Given the description of an element on the screen output the (x, y) to click on. 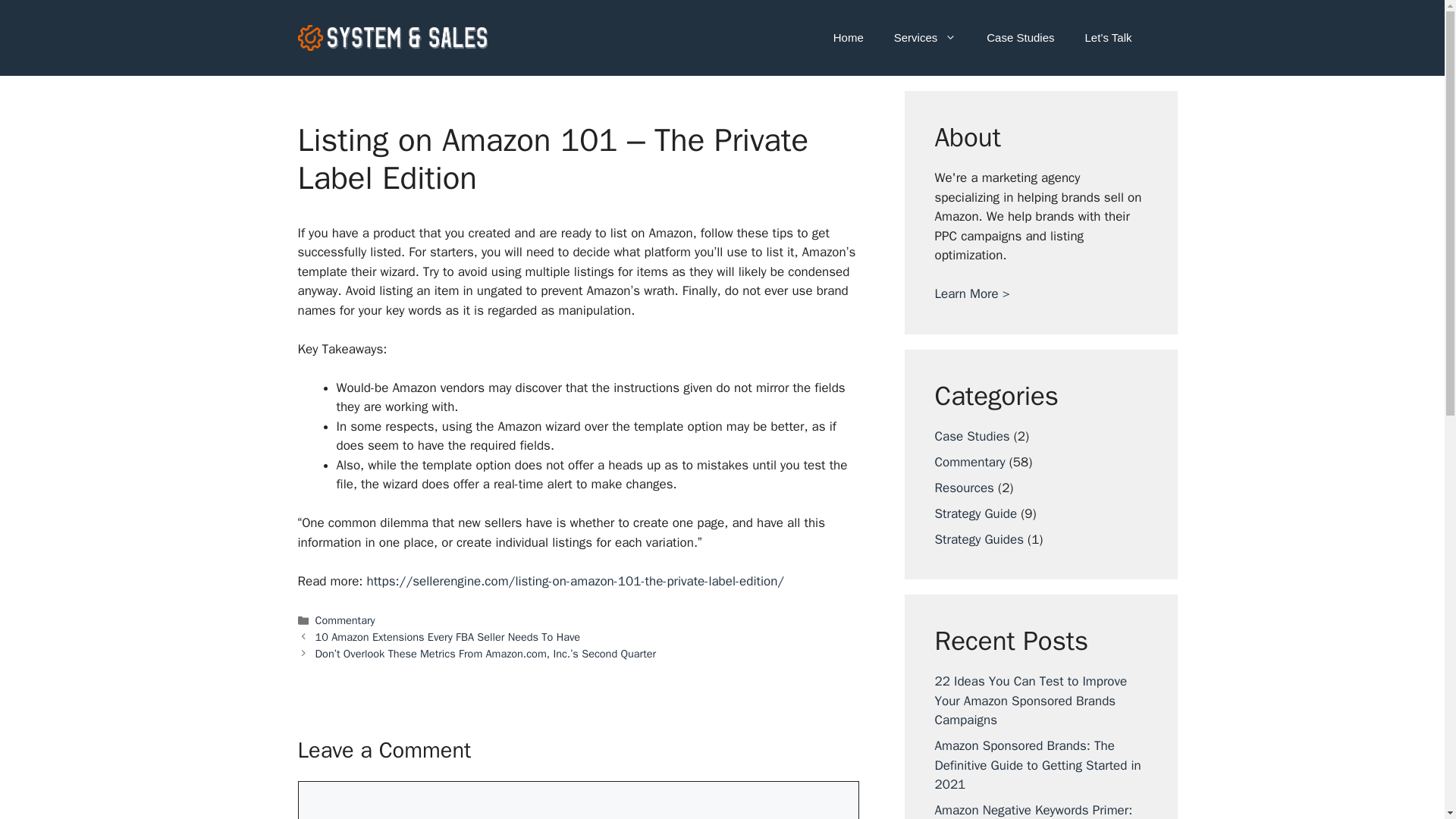
Resources (963, 487)
Strategy Guide (975, 512)
Home (848, 37)
Case Studies (971, 435)
10 Amazon Extensions Every FBA Seller Needs To Have (447, 636)
Commentary (345, 620)
Commentary (969, 461)
Services (925, 37)
Case Studies (1019, 37)
Strategy Guides (978, 538)
